Given the description of an element on the screen output the (x, y) to click on. 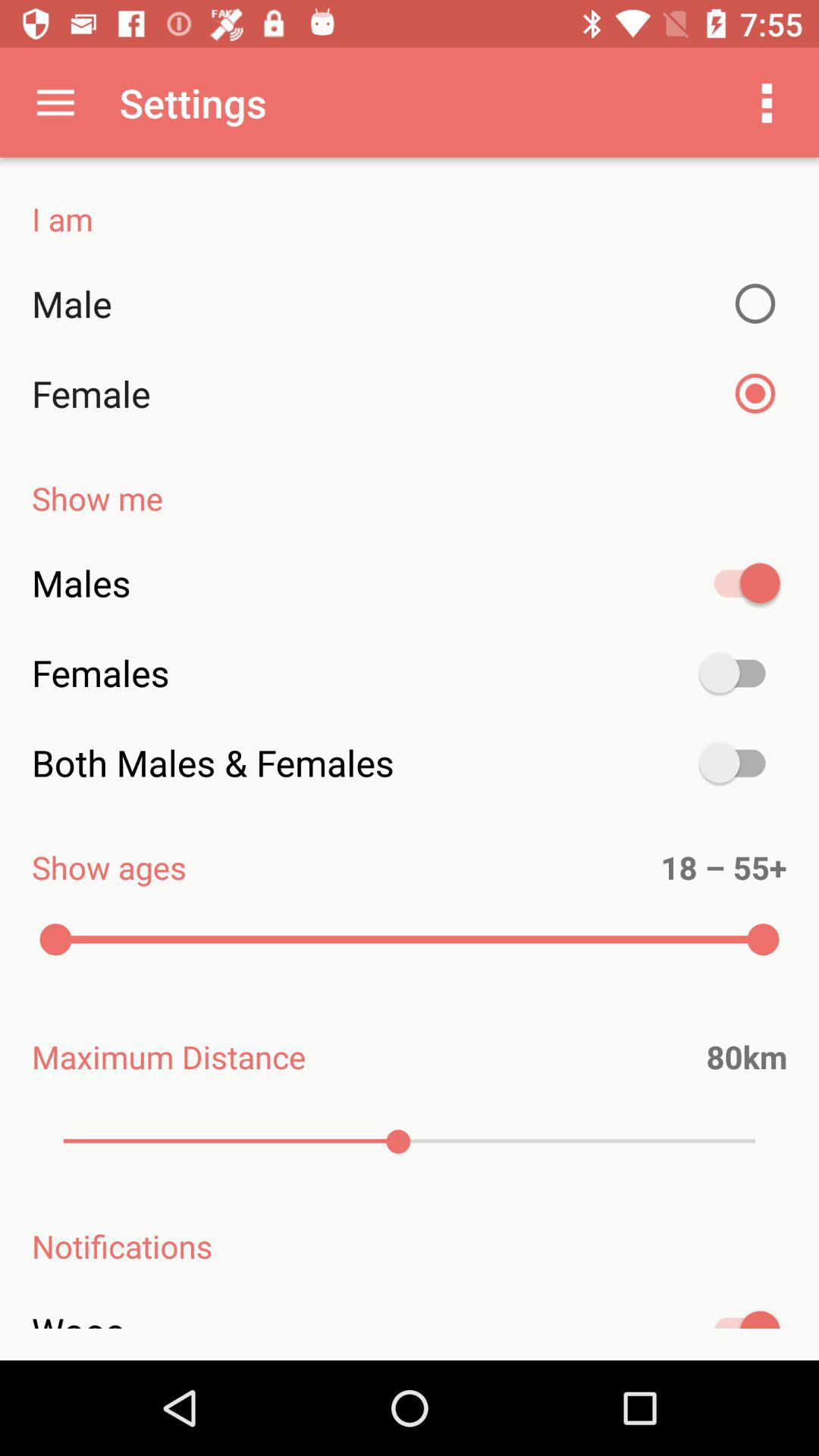
turn on both males & females item (409, 762)
